Given the description of an element on the screen output the (x, y) to click on. 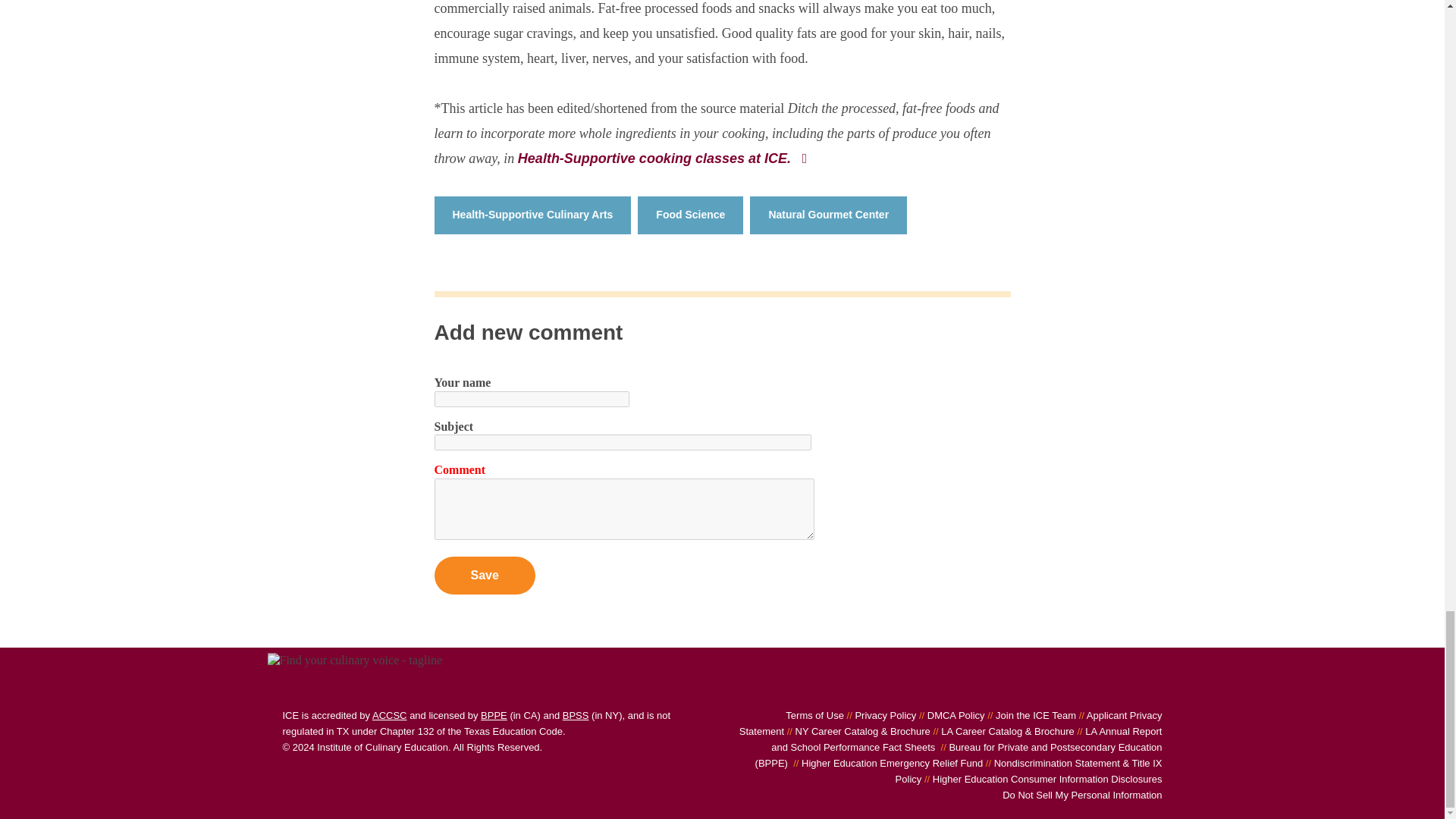
Health-Supportive cooking classes at ICE. (663, 158)
Save (483, 575)
Privacy Policy (879, 715)
Join the ICE Team (1030, 715)
DMCA Policy (949, 715)
Applicant Privacy Statement (950, 723)
BPPE (493, 715)
Save (483, 575)
Health-Supportive Culinary Arts (531, 215)
Natural Gourmet Center (828, 215)
